Given the description of an element on the screen output the (x, y) to click on. 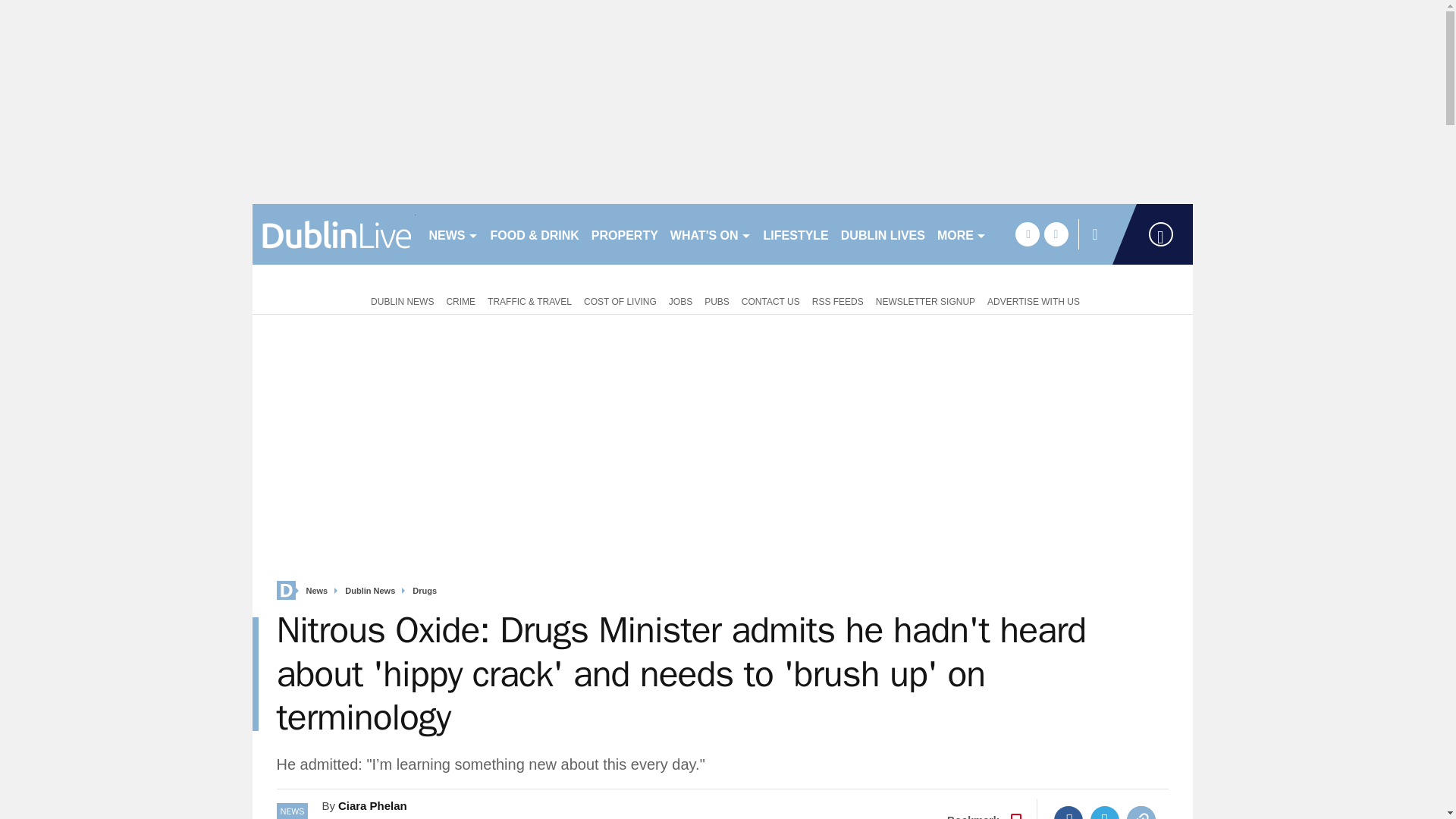
dublinlive (332, 233)
Twitter (1104, 812)
Facebook (1068, 812)
WHAT'S ON (710, 233)
DUBLIN LIVES (882, 233)
facebook (1026, 233)
LIFESTYLE (795, 233)
twitter (1055, 233)
MORE (961, 233)
PROPERTY (624, 233)
